Given the description of an element on the screen output the (x, y) to click on. 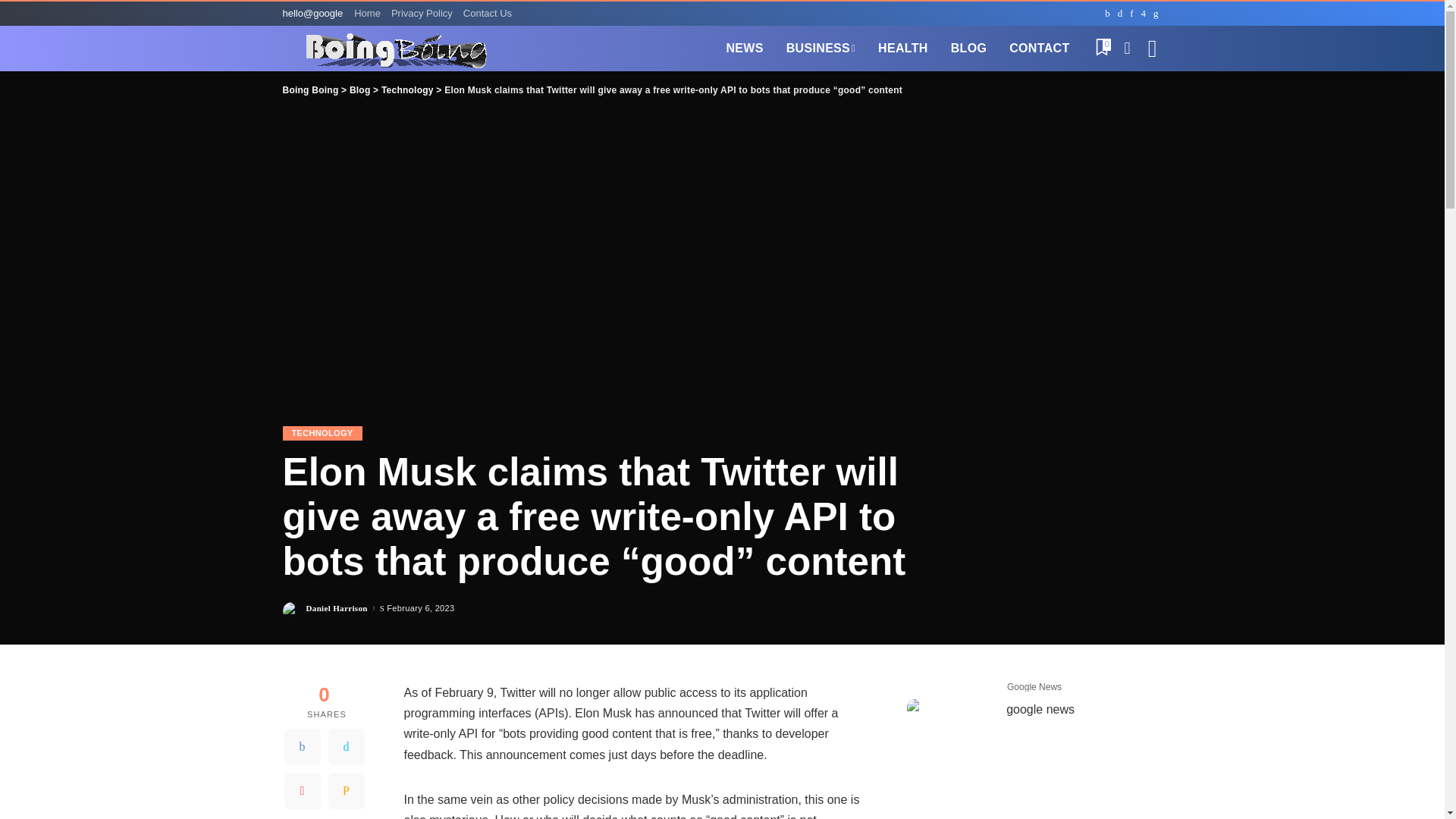
Home (369, 13)
Privacy Policy (421, 13)
Boing Boing (391, 48)
NEWS (744, 48)
Contact Us (487, 13)
